Given the description of an element on the screen output the (x, y) to click on. 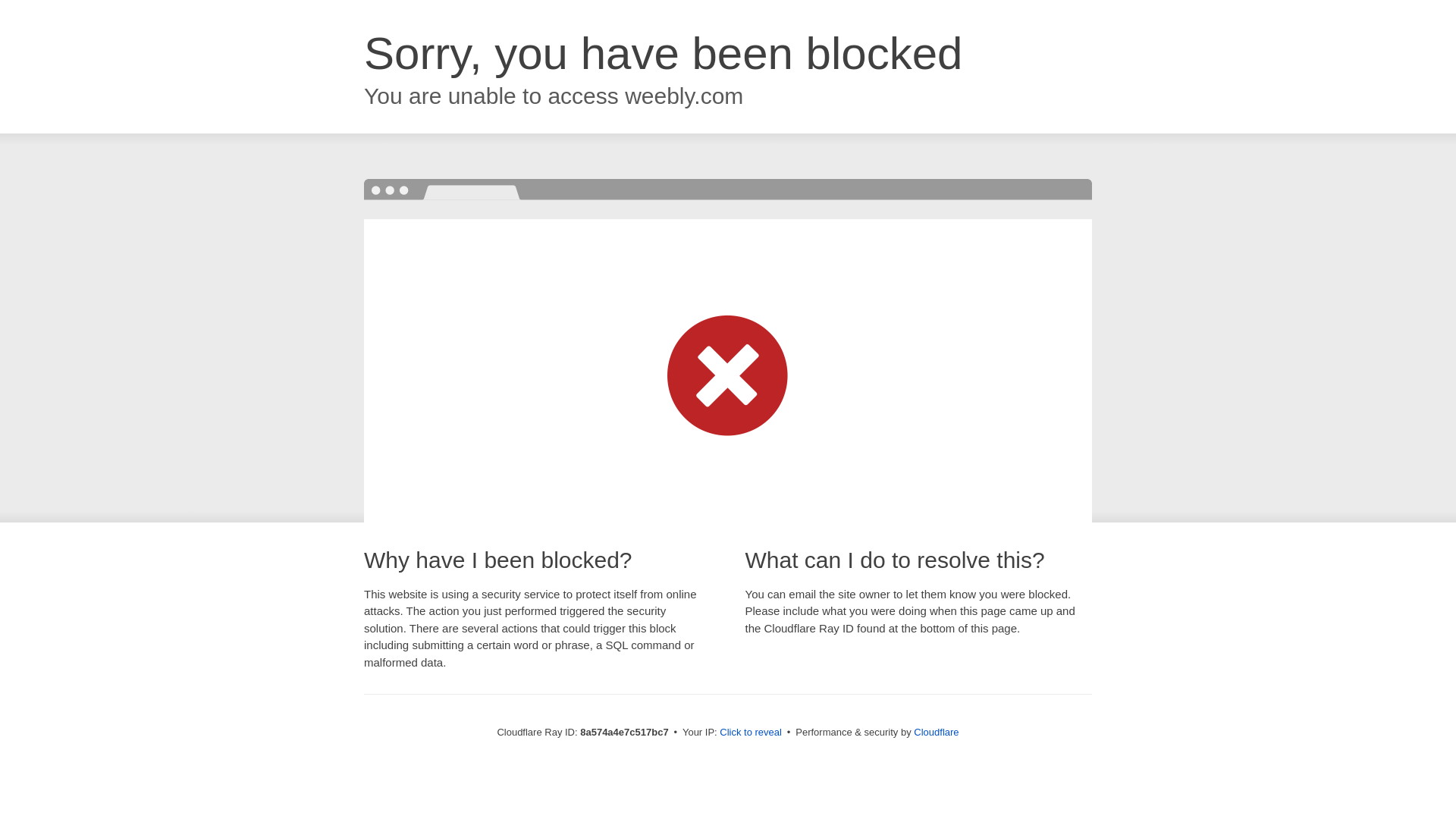
Click to reveal (750, 732)
Cloudflare (936, 731)
